Given the description of an element on the screen output the (x, y) to click on. 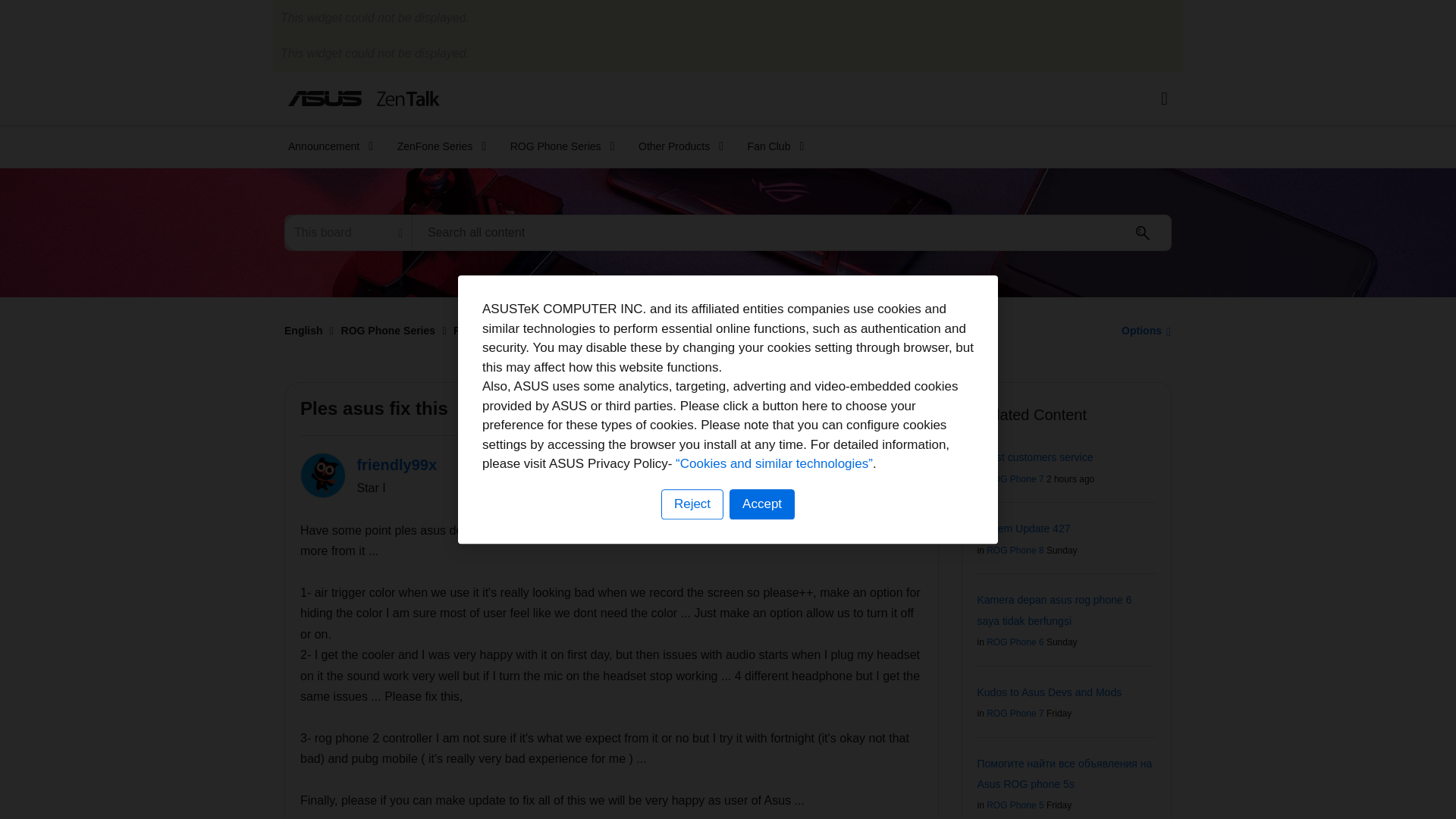
Search (1142, 232)
Search (792, 232)
ROG Phone Series (557, 146)
Search (1142, 232)
friendly99x (322, 474)
ZenFone Series (436, 146)
Announcement (325, 146)
ASUS - ZenTalk (363, 97)
Search Granularity (347, 232)
Other Products (676, 146)
